Given the description of an element on the screen output the (x, y) to click on. 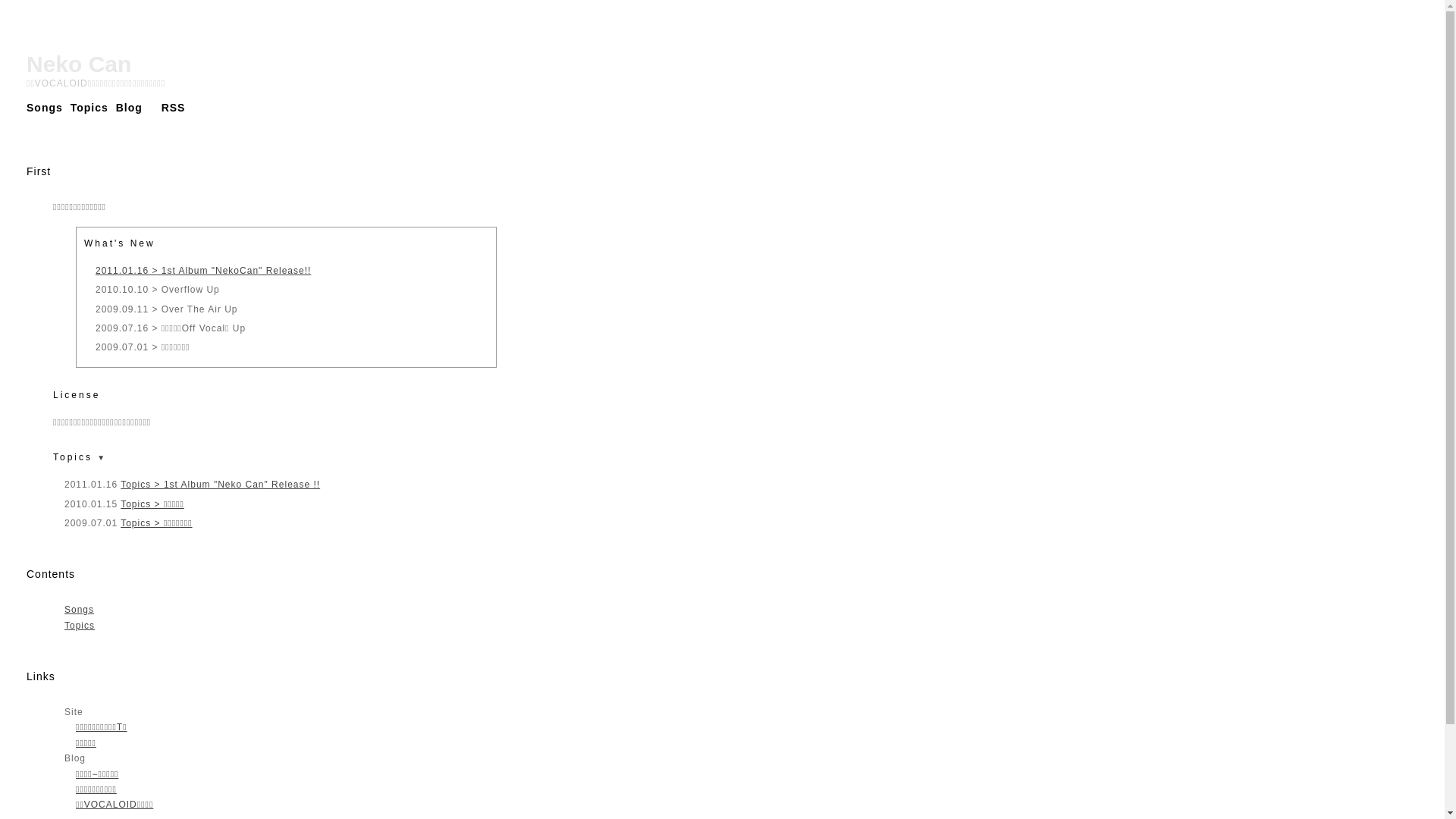
Topics > 1st Album "Neko Can" Release !! Element type: text (220, 484)
Topics Element type: text (89, 107)
Topics Element type: text (79, 625)
2011.01.16 > 1st Album "NekoCan" Release!! Element type: text (202, 270)
Neko Can Element type: text (78, 63)
RSS Element type: text (167, 107)
Songs Element type: text (79, 609)
Songs Element type: text (44, 107)
Blog Element type: text (129, 107)
